Given the description of an element on the screen output the (x, y) to click on. 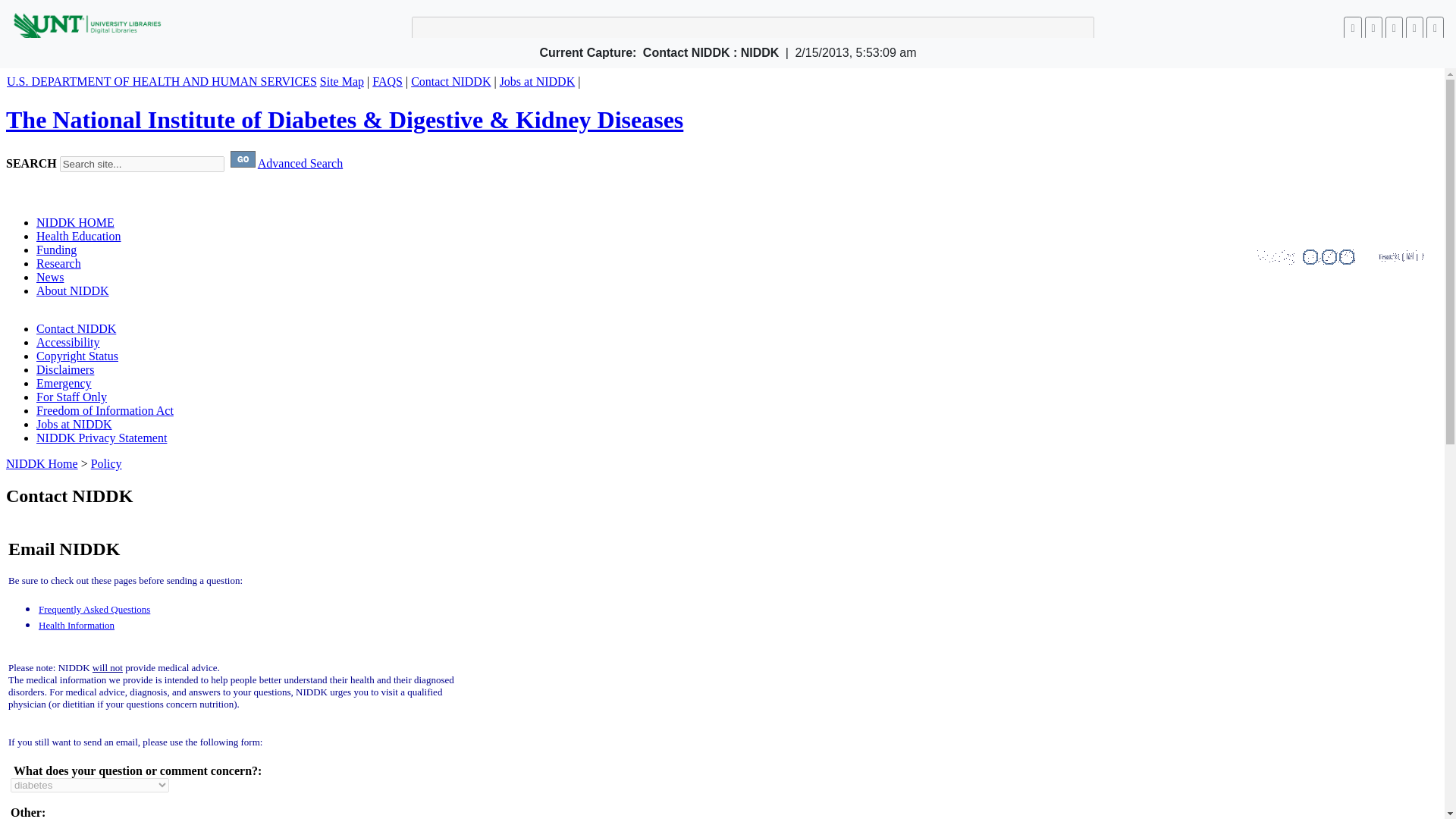
Print (1435, 28)
Show calendar (1394, 28)
Previous capture (1352, 28)
Next capture (1373, 28)
Show timeline (1414, 28)
